Given the description of an element on the screen output the (x, y) to click on. 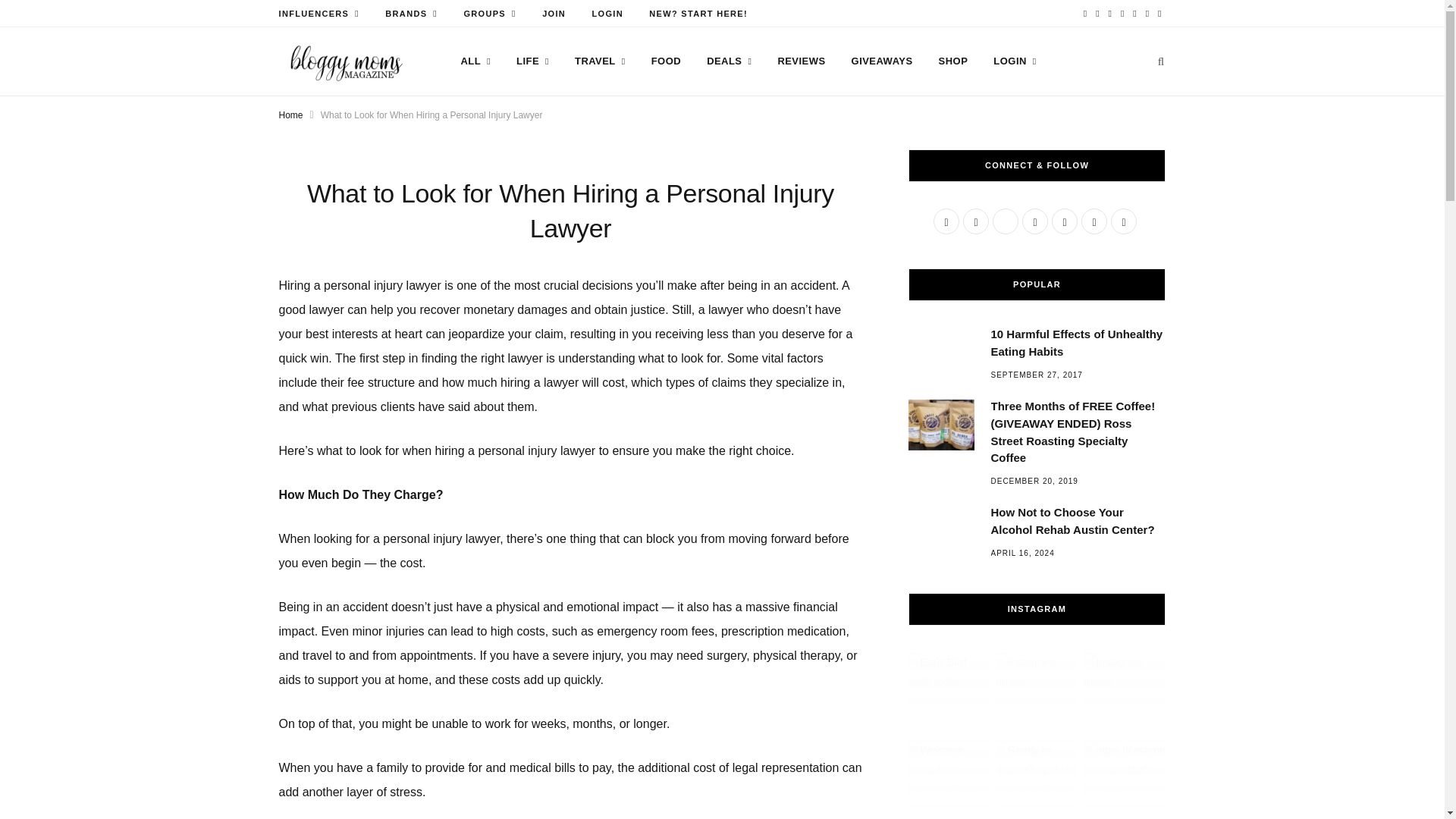
LOGIN (606, 13)
INFLUENCERS (317, 13)
JOIN (553, 13)
GROUPS (489, 13)
Instagram Image (1036, 692)
BRANDS (411, 13)
Bloggy Moms Magazine (345, 62)
NEW? START HERE! (697, 13)
Instagram Image (1124, 692)
